Given the description of an element on the screen output the (x, y) to click on. 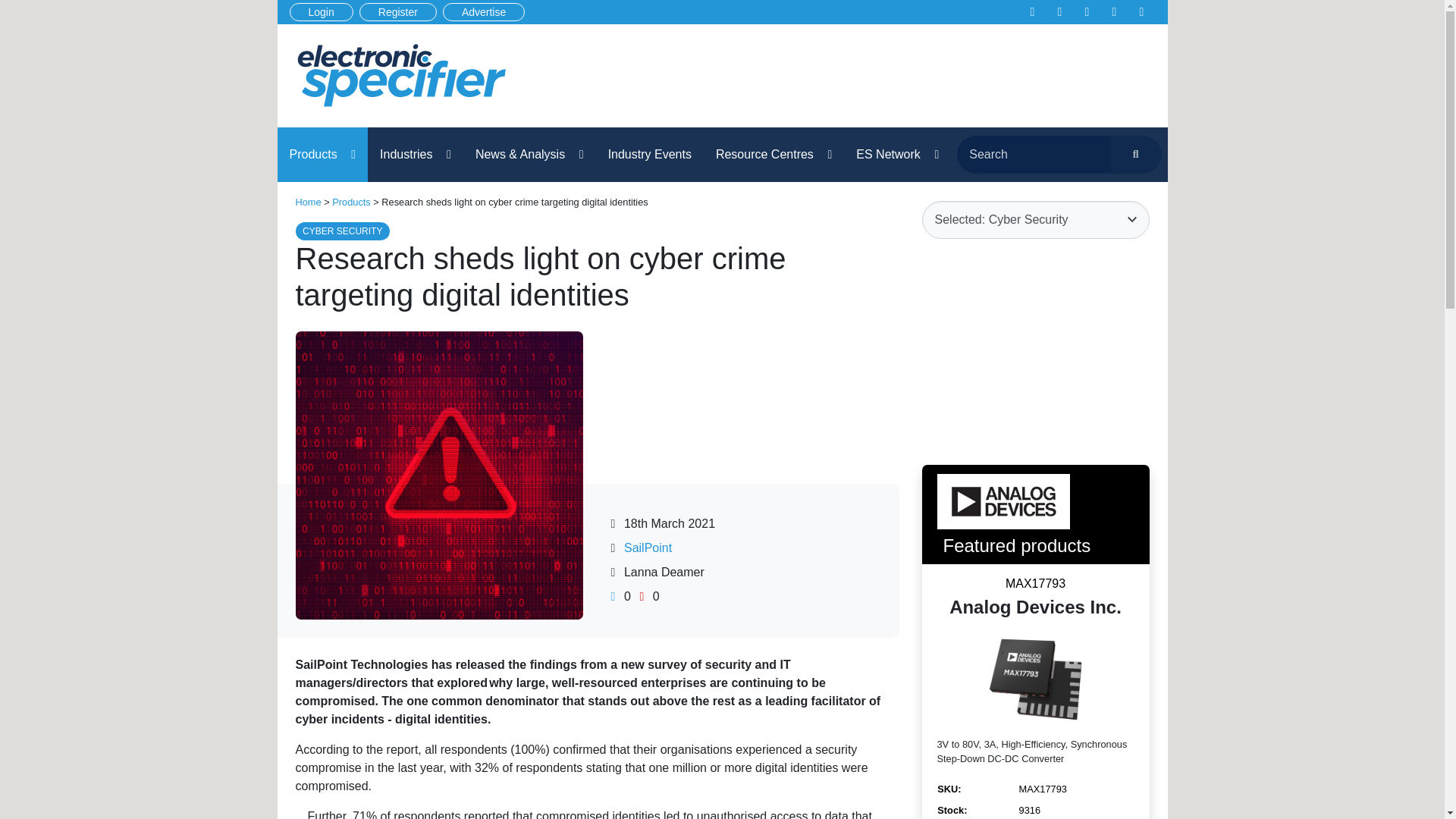
Login (321, 12)
Register (397, 12)
Advertise (483, 12)
Products (323, 154)
